Given the description of an element on the screen output the (x, y) to click on. 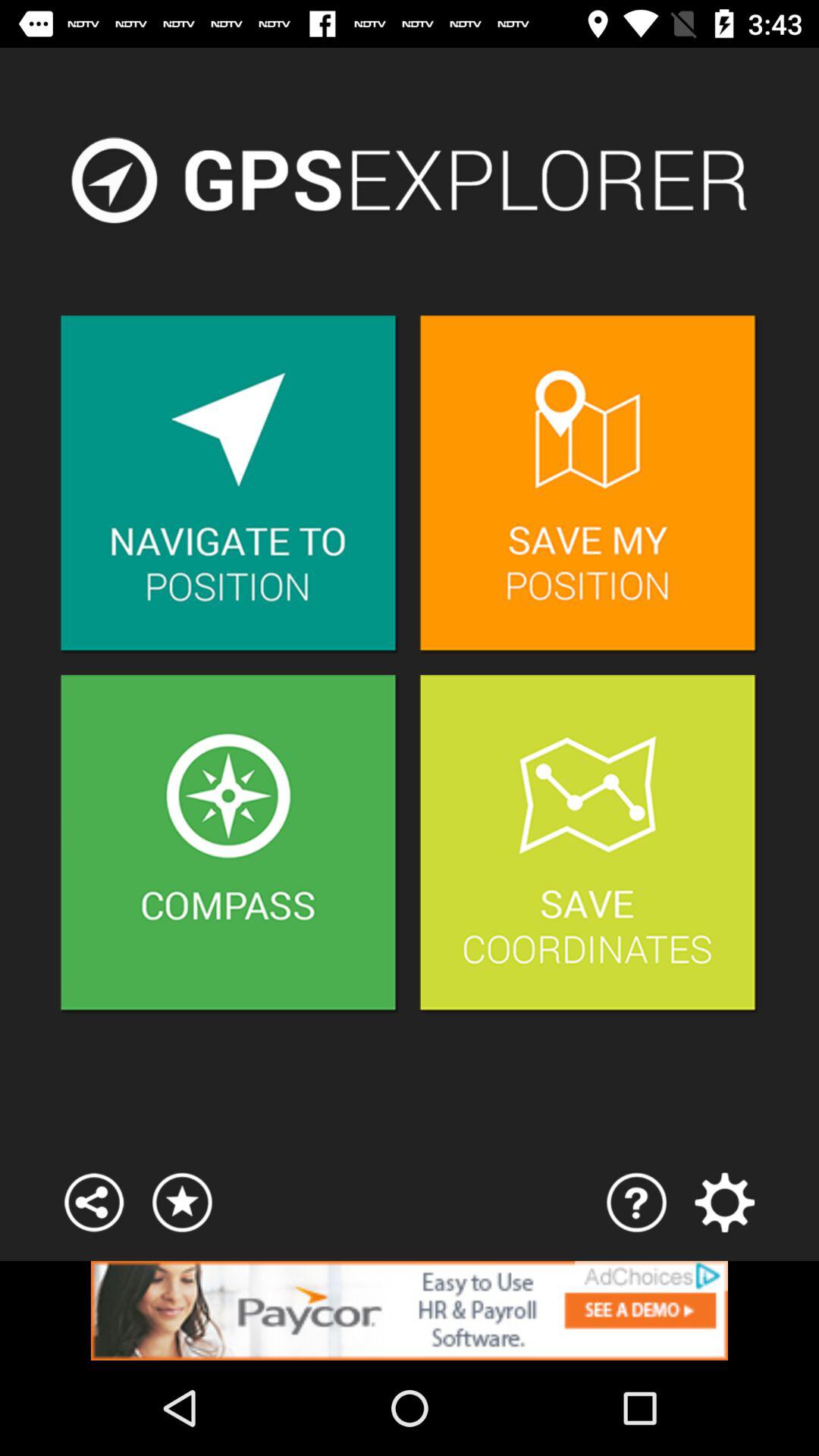
save to favorites (182, 1202)
